Given the description of an element on the screen output the (x, y) to click on. 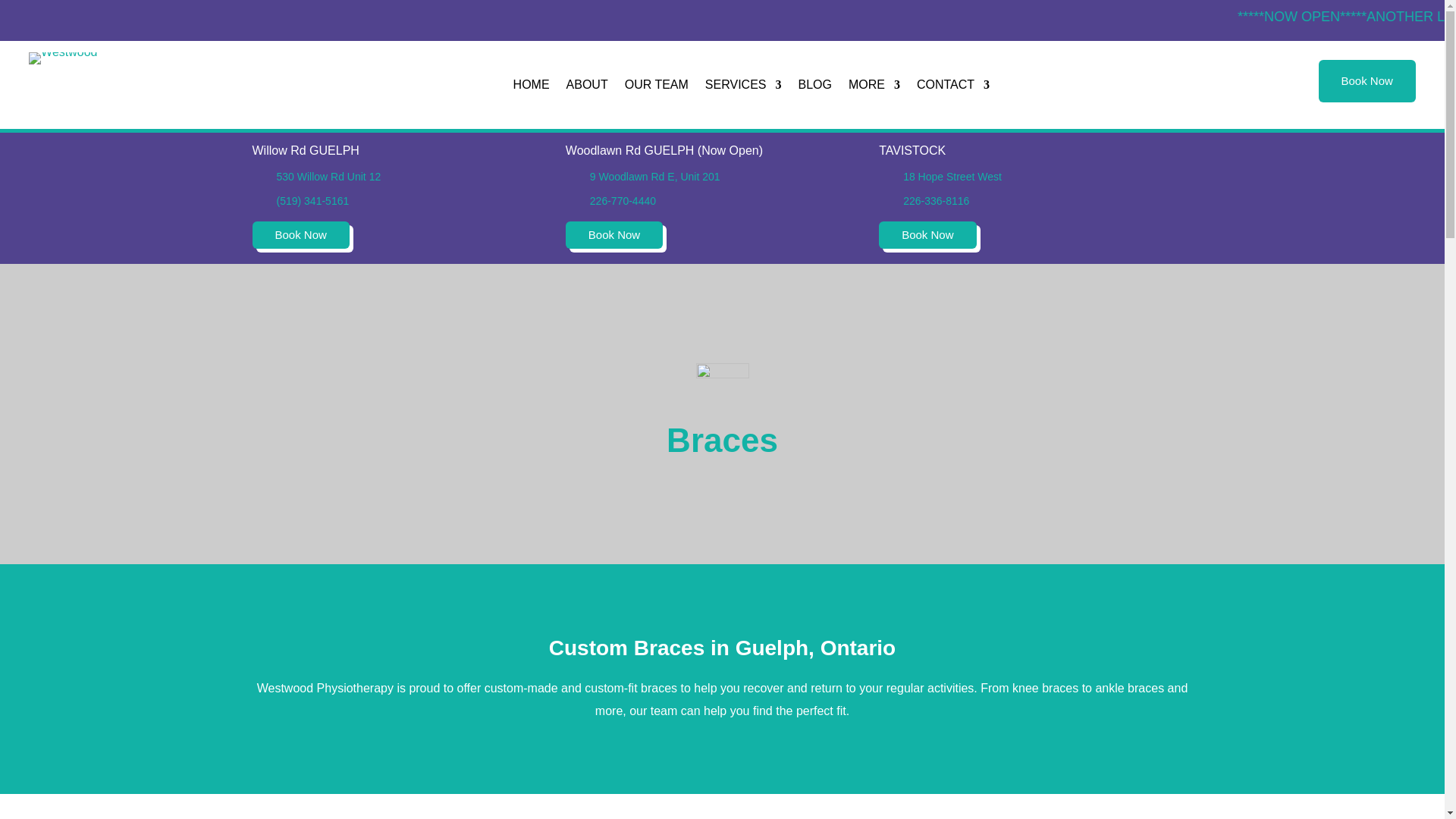
ABOUT (587, 87)
Book Now (300, 234)
Book Now (1367, 80)
Book Now (927, 234)
Book Now (614, 234)
HOME (531, 87)
SERVICES (742, 87)
MORE (873, 87)
OUR TEAM (656, 87)
BLOG (814, 87)
